Given the description of an element on the screen output the (x, y) to click on. 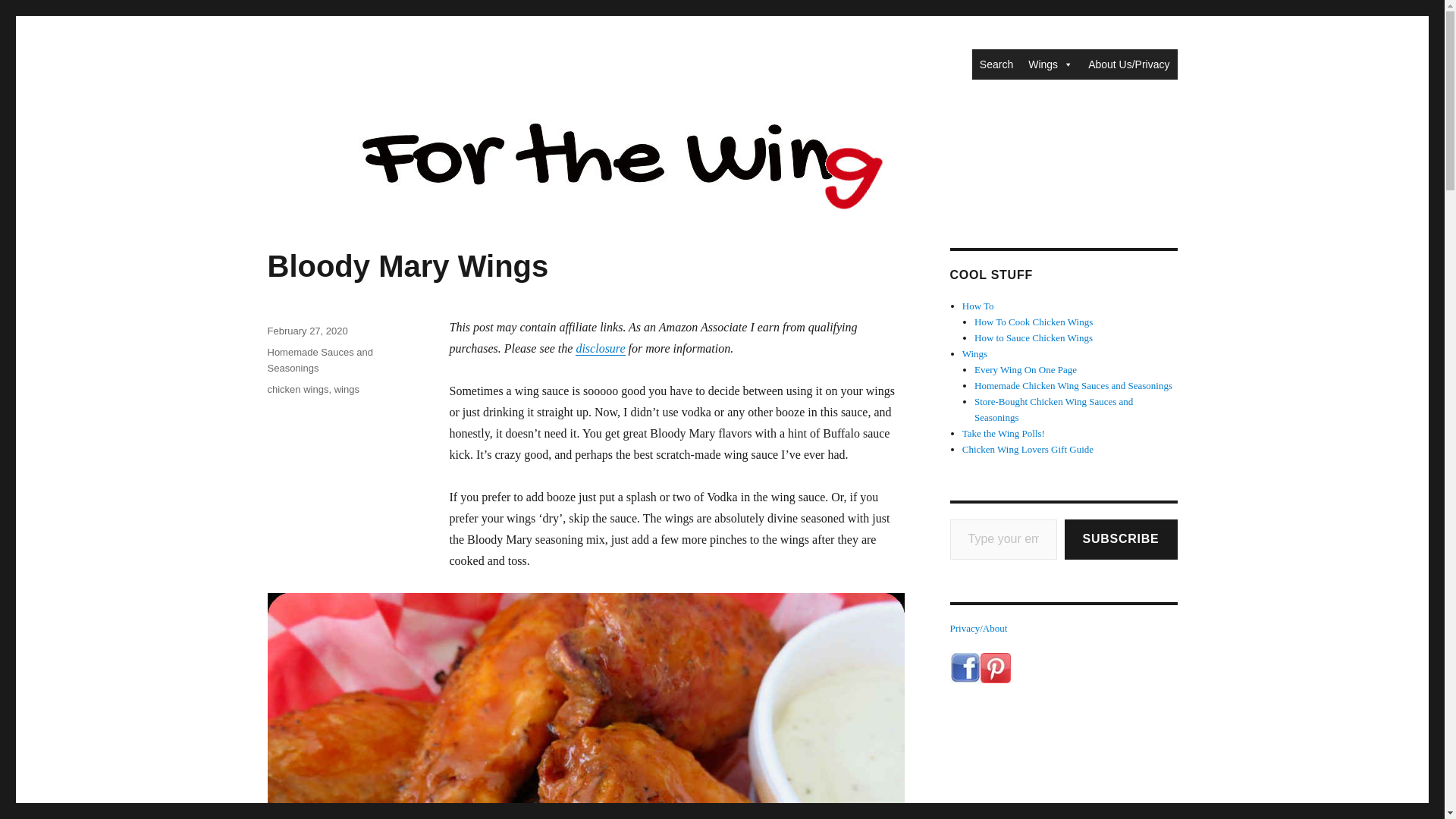
Please fill in this field. (1003, 539)
For the Wing (331, 62)
disclosure (599, 348)
Search (996, 64)
Wings (1050, 64)
